Given the description of an element on the screen output the (x, y) to click on. 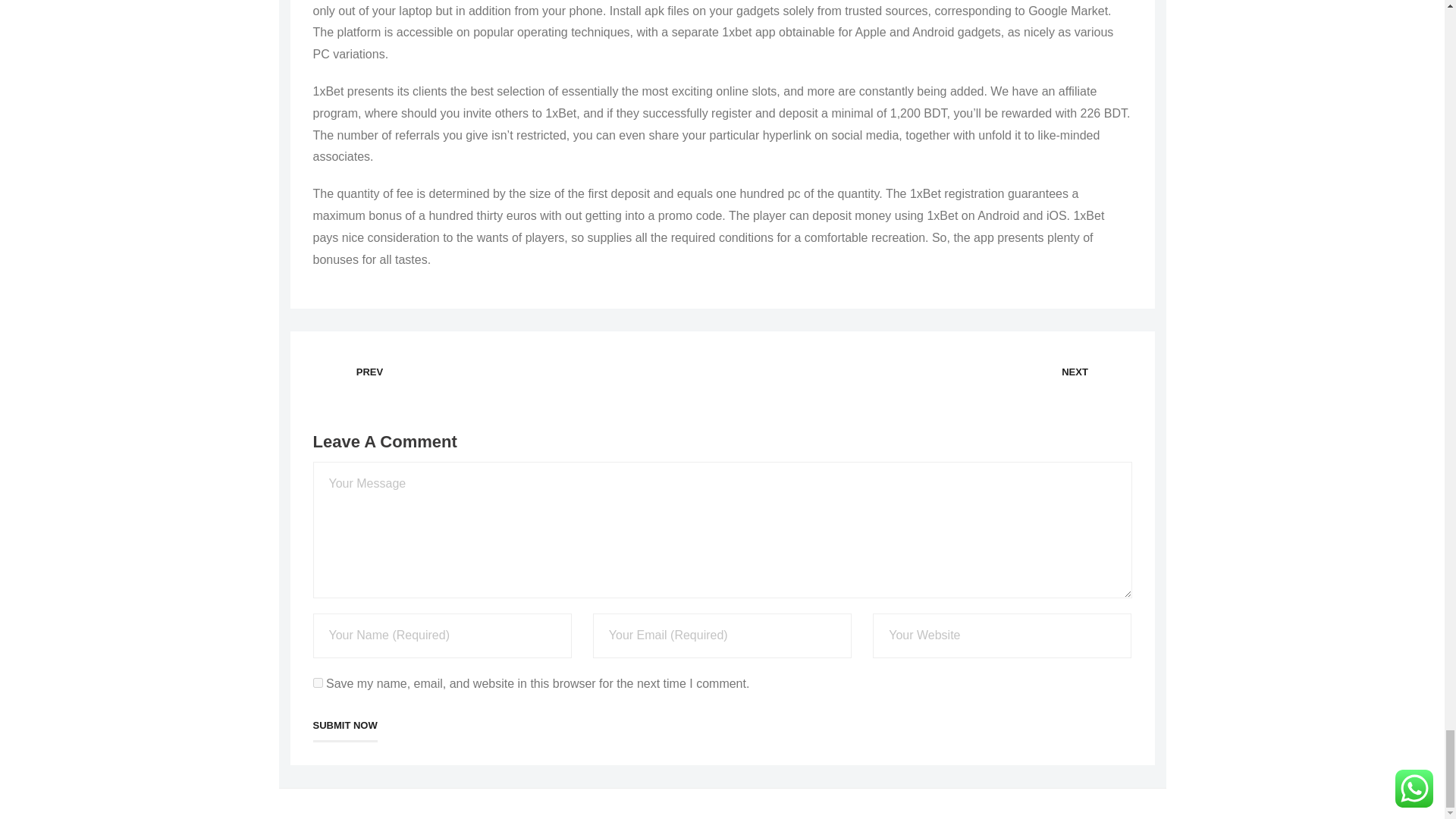
yes (317, 682)
Submit Now (345, 726)
NEXT (1074, 371)
Submit Now (345, 726)
PREV (369, 371)
